Given the description of an element on the screen output the (x, y) to click on. 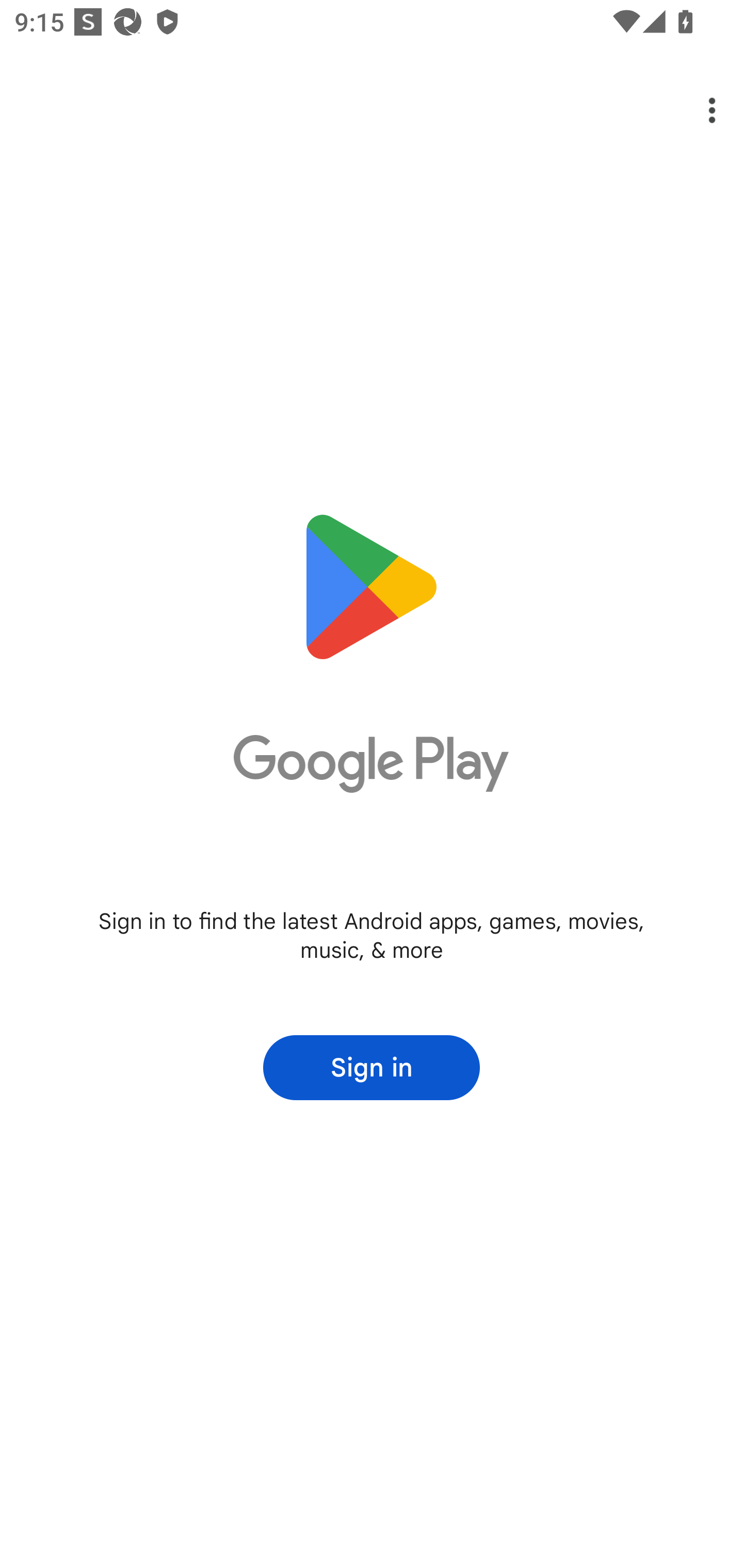
Options (697, 110)
Sign in (371, 1067)
